Given the description of an element on the screen output the (x, y) to click on. 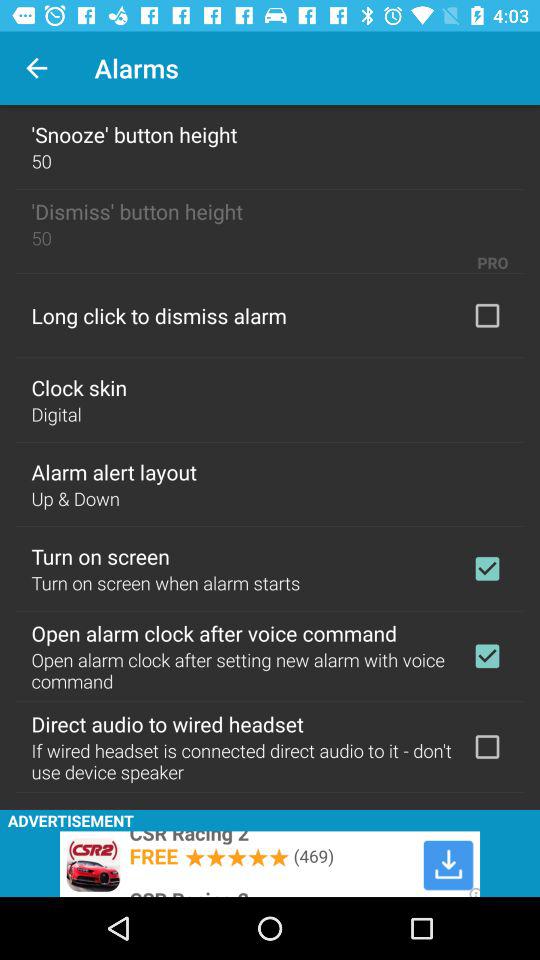
toggle for on and off (487, 656)
